Given the description of an element on the screen output the (x, y) to click on. 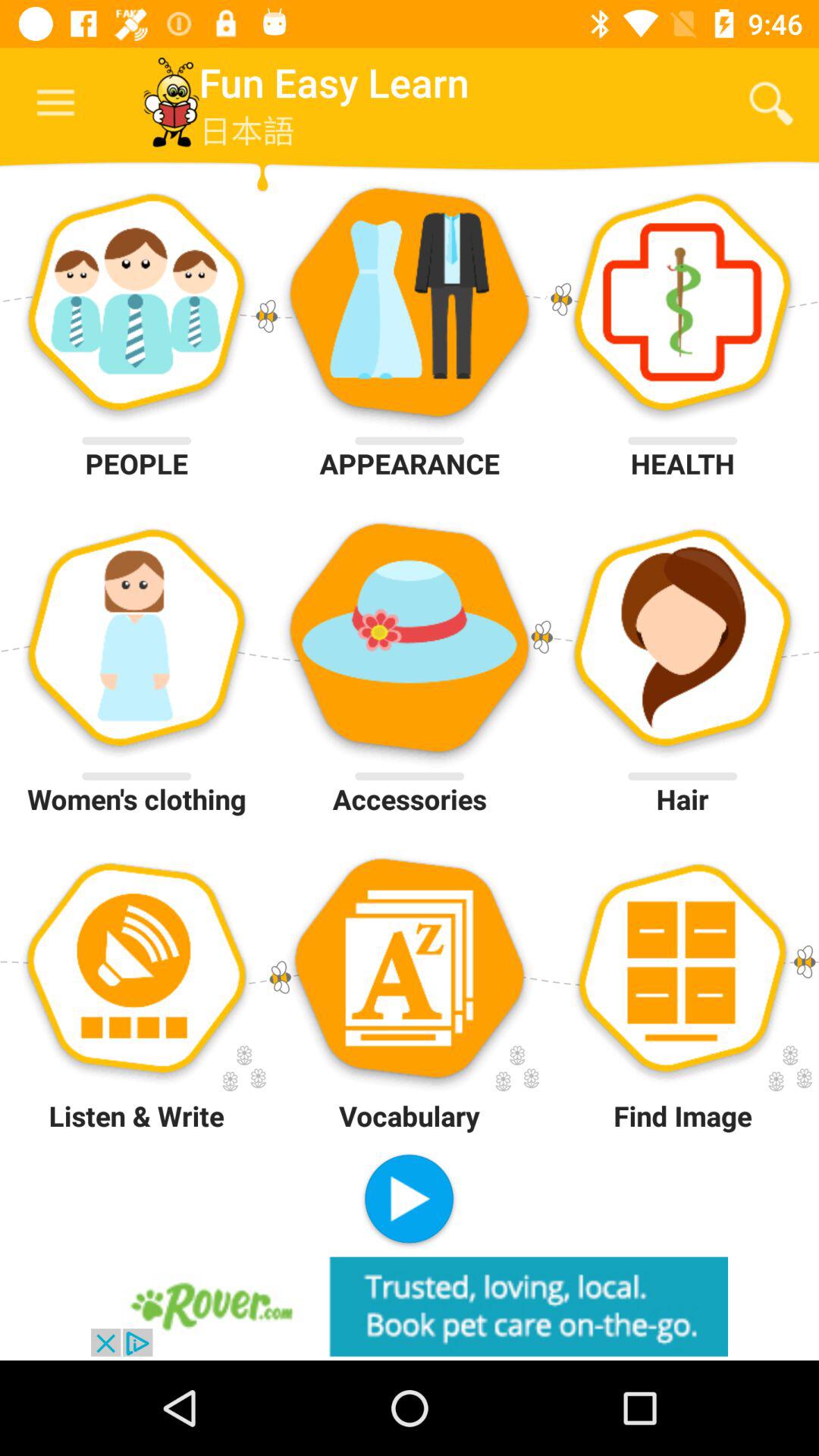
open the icon next to fun easy learn (771, 103)
